Given the description of an element on the screen output the (x, y) to click on. 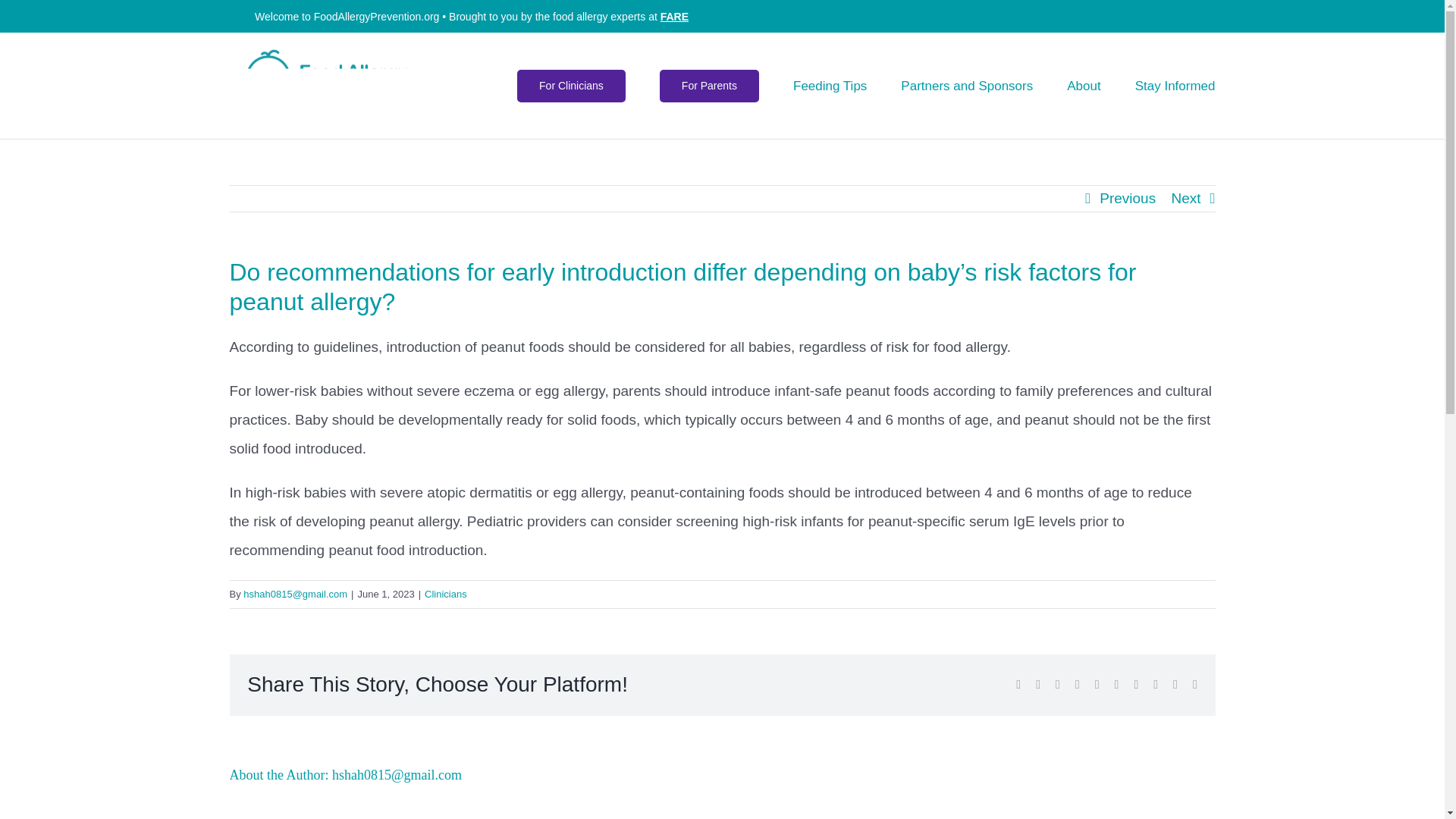
For Parents (708, 85)
Stay Informed (1175, 85)
Feeding Tips (829, 85)
Partners and Sponsors (966, 85)
FARE (674, 16)
For Clinicians (571, 85)
